Given the description of an element on the screen output the (x, y) to click on. 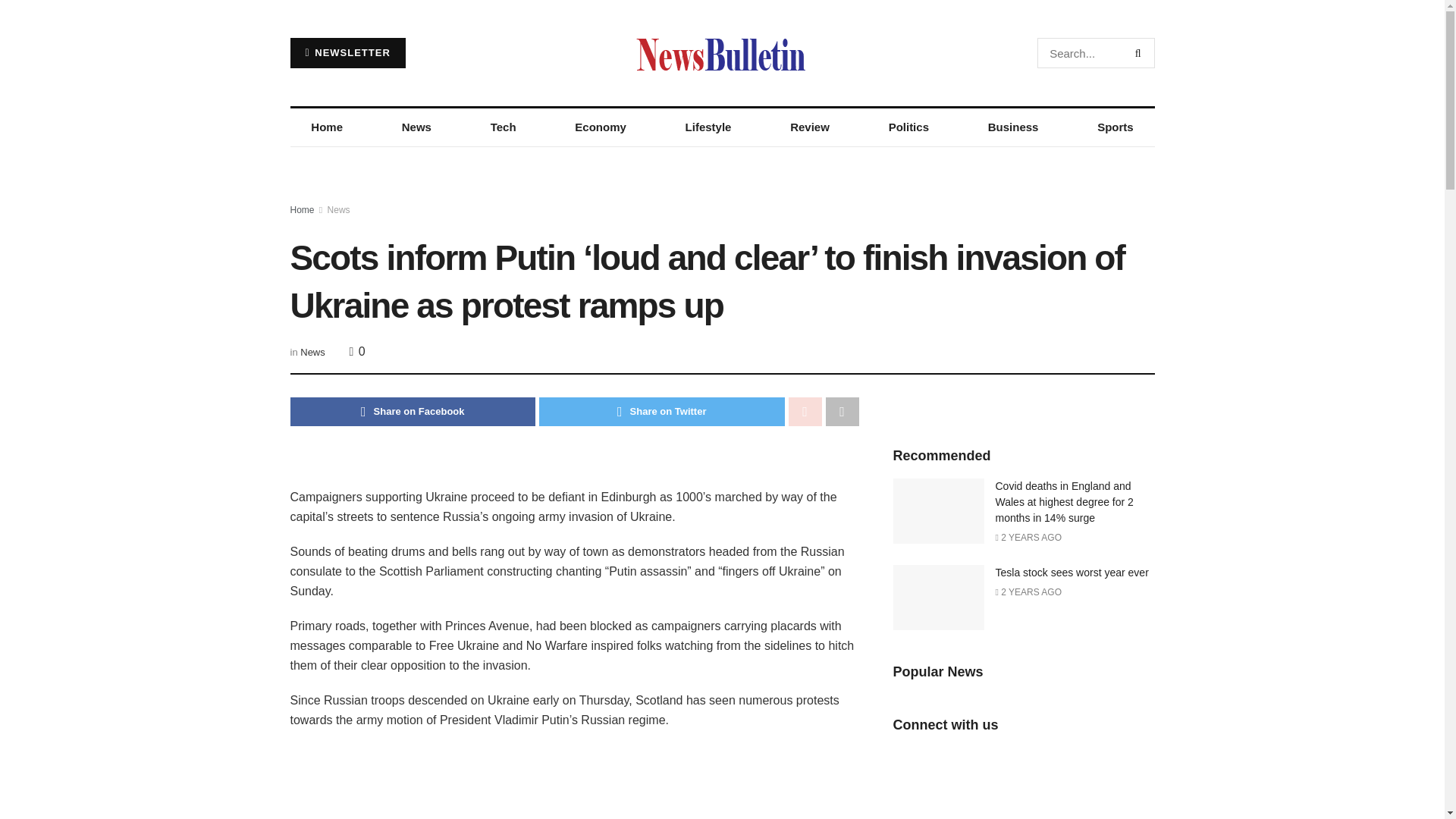
0 (357, 350)
Home (325, 127)
Lifestyle (707, 127)
NEWSLETTER (346, 52)
Home (301, 209)
Sports (1114, 127)
News (416, 127)
Tech (502, 127)
News (338, 209)
News (311, 351)
